Given the description of an element on the screen output the (x, y) to click on. 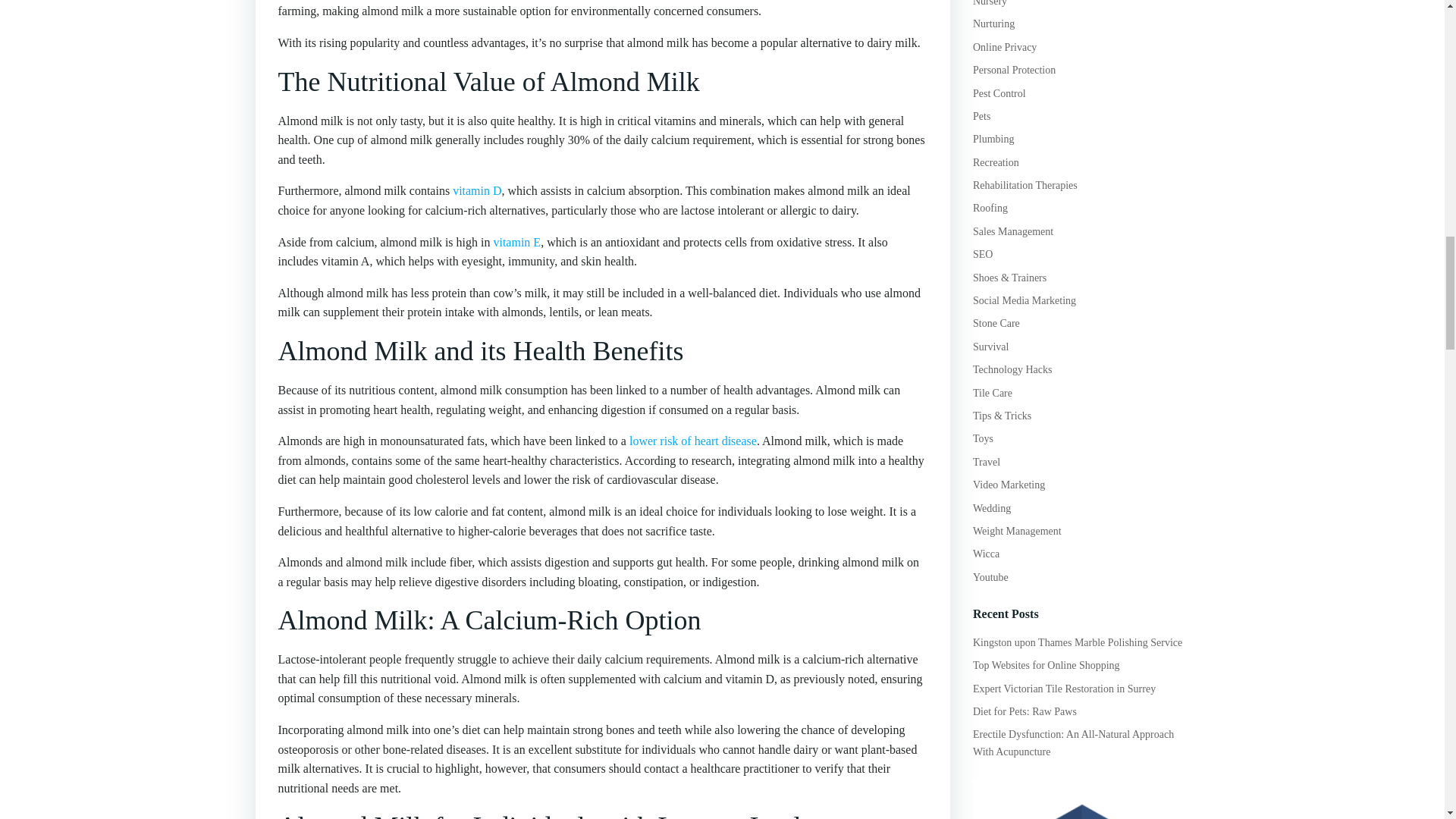
vitamin D (476, 190)
vitamin E (516, 241)
lower risk of heart disease (692, 440)
